Given the description of an element on the screen output the (x, y) to click on. 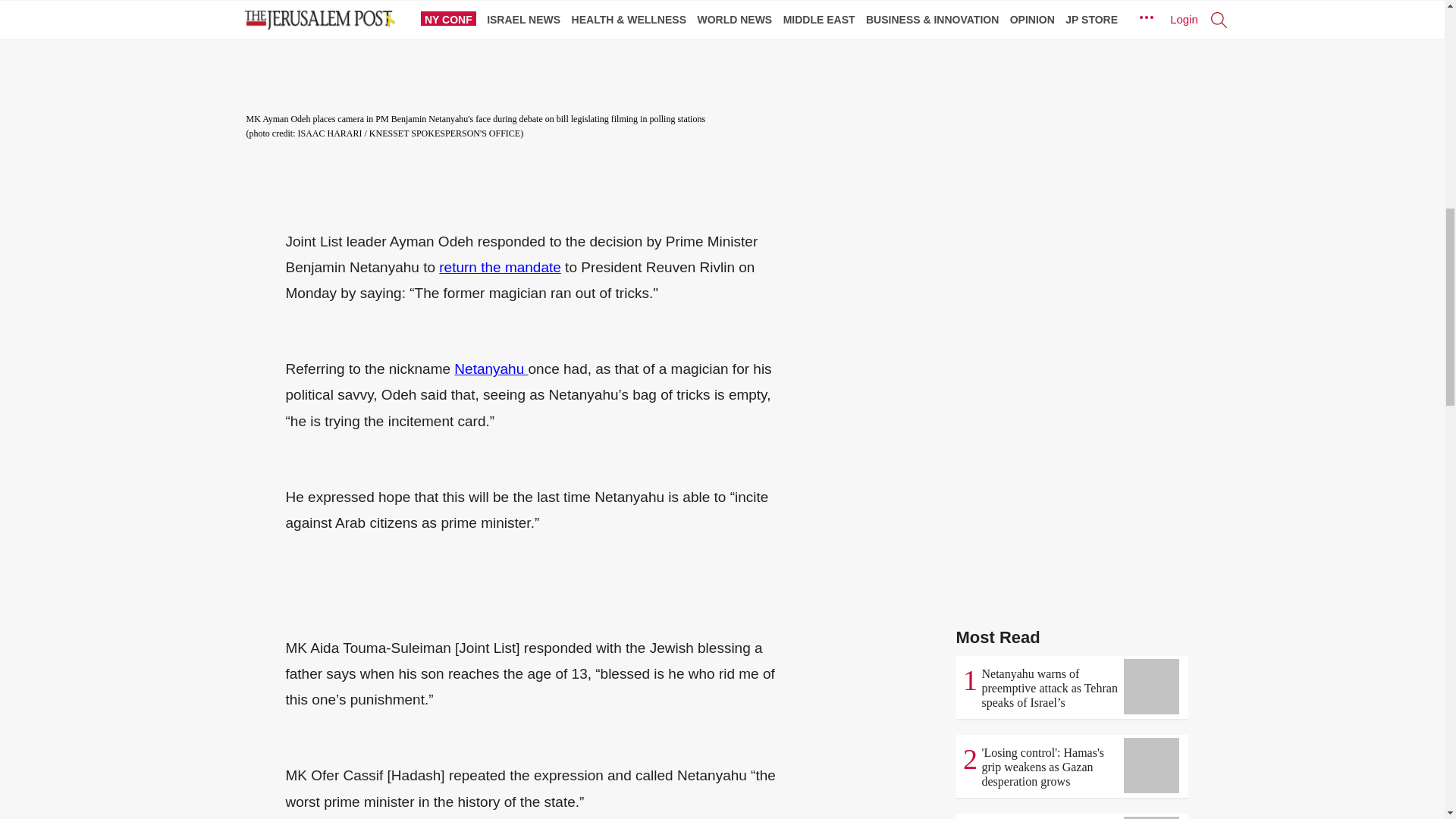
return the mandate (499, 267)
Netanyahu (490, 368)
